Given the description of an element on the screen output the (x, y) to click on. 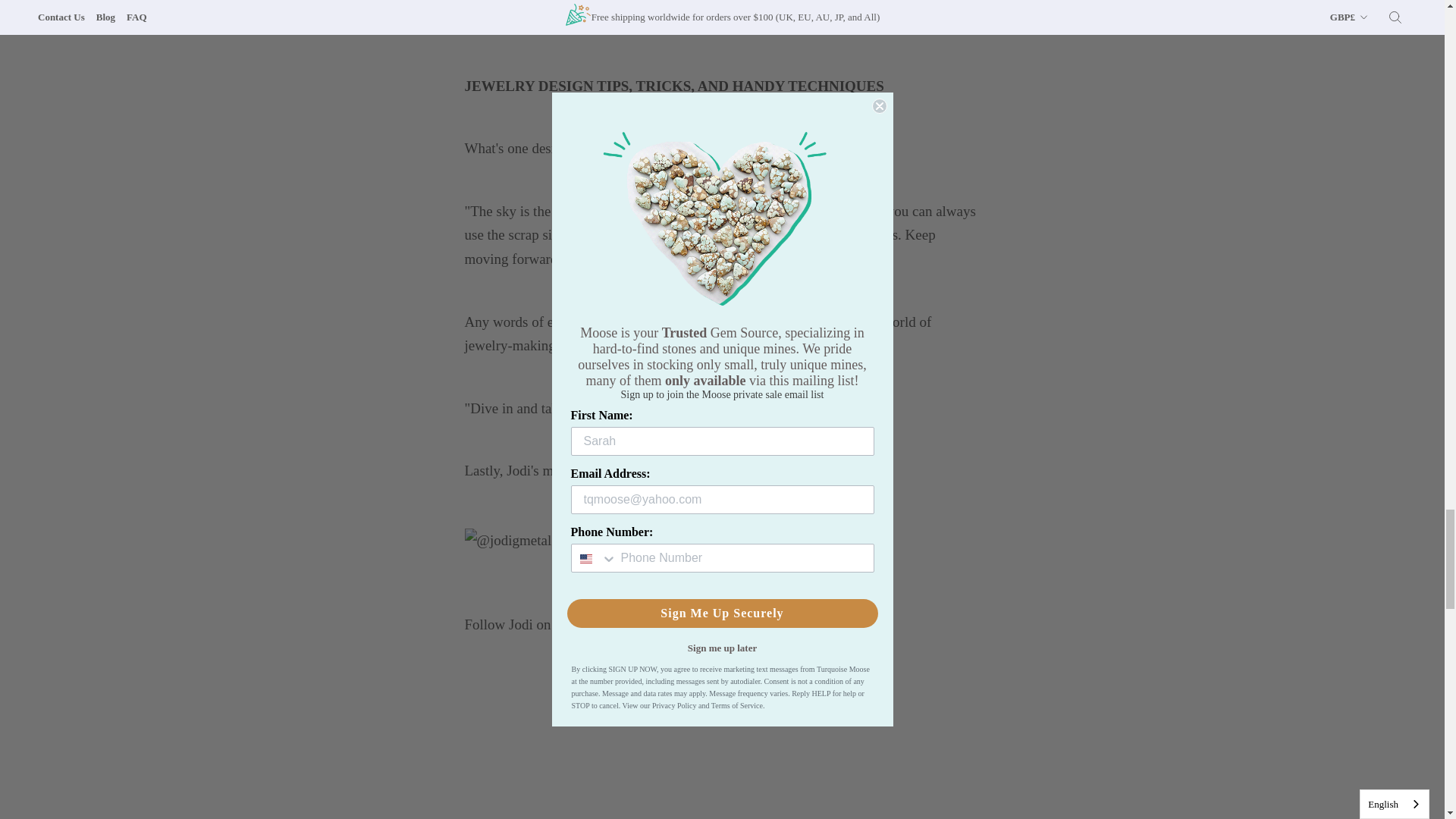
jodigmetaldesigns Instagram (755, 624)
